Given the description of an element on the screen output the (x, y) to click on. 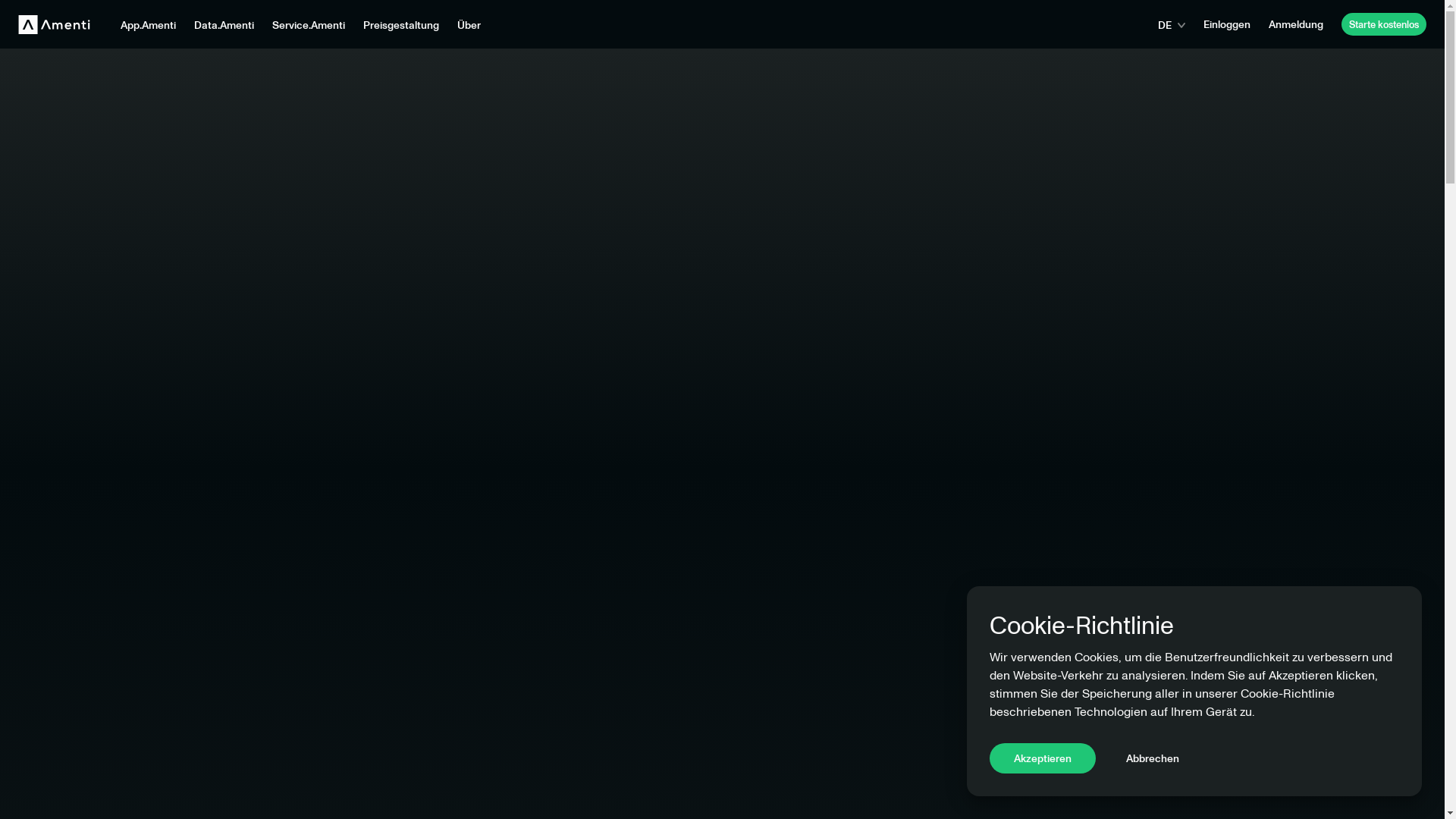
Data.Amenti Element type: text (224, 24)
App.Amenti Element type: text (147, 24)
Anmeldung Element type: text (1295, 23)
Preisgestaltung Element type: text (401, 24)
Starte kostenlos Element type: text (1383, 24)
Akzeptieren Element type: text (1042, 758)
Einloggen Element type: text (1226, 23)
Abbrechen Element type: text (1152, 758)
Service.Amenti Element type: text (308, 24)
